Given the description of an element on the screen output the (x, y) to click on. 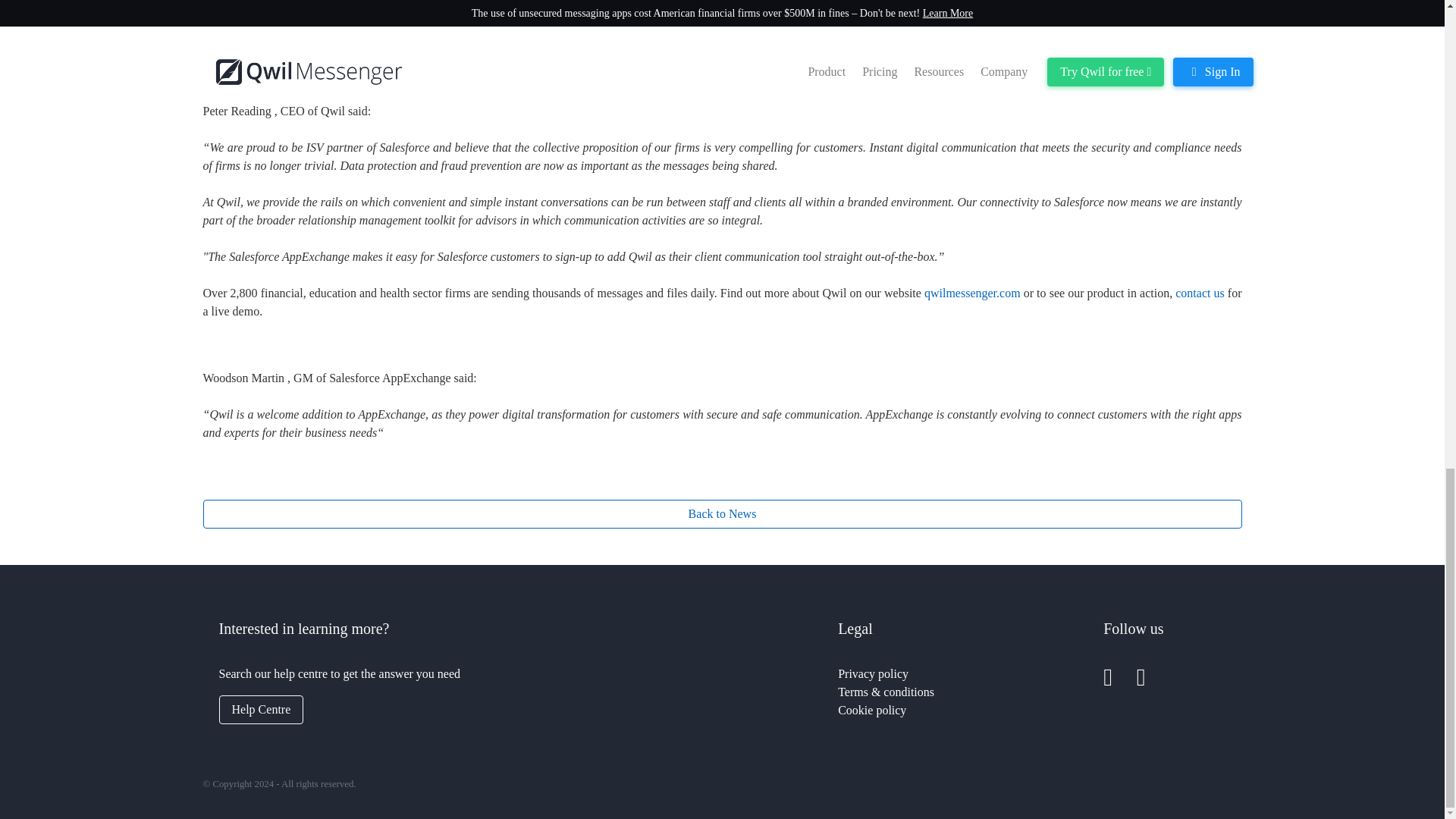
Cookie policy (871, 709)
Help Centre (260, 709)
Privacy policy (873, 673)
qwilmessenger.com (973, 292)
Back to News (722, 513)
contact us (1200, 292)
